Given the description of an element on the screen output the (x, y) to click on. 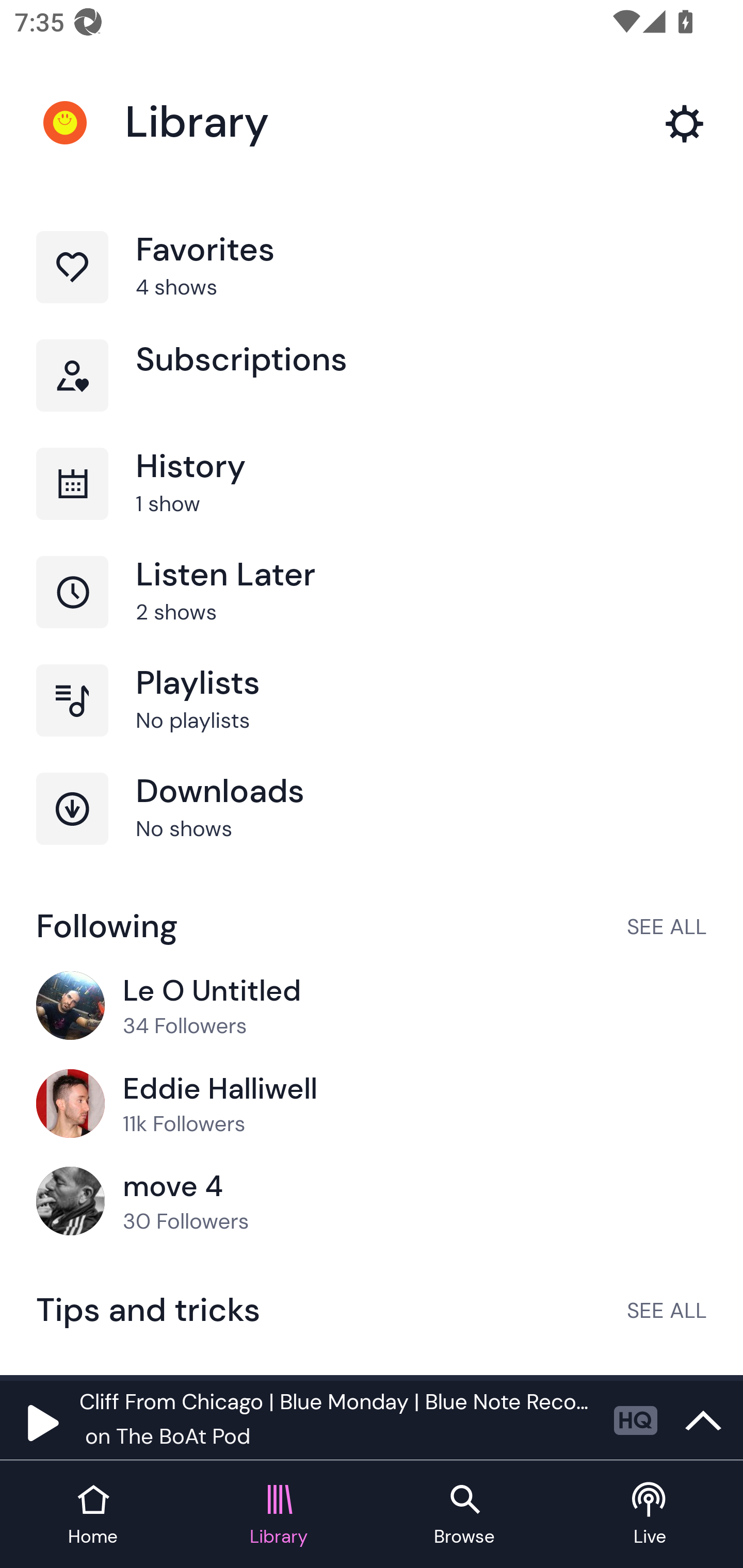
Favorites, 4 shows Favorites 4 shows (371, 284)
Subscriptions (371, 393)
History, 1 show History 1 show (371, 502)
Listen Later, 2 shows Listen Later 2 shows (371, 610)
Playlists, No playlists Playlists No playlists (371, 718)
Downloads, No shows Downloads No shows (371, 827)
SEE ALL (666, 926)
move 4, 30 Followers move 4 30 Followers (371, 1201)
SEE ALL (666, 1309)
Home tab Home (92, 1515)
Library tab Library (278, 1515)
Browse tab Browse (464, 1515)
Live tab Live (650, 1515)
